Given the description of an element on the screen output the (x, y) to click on. 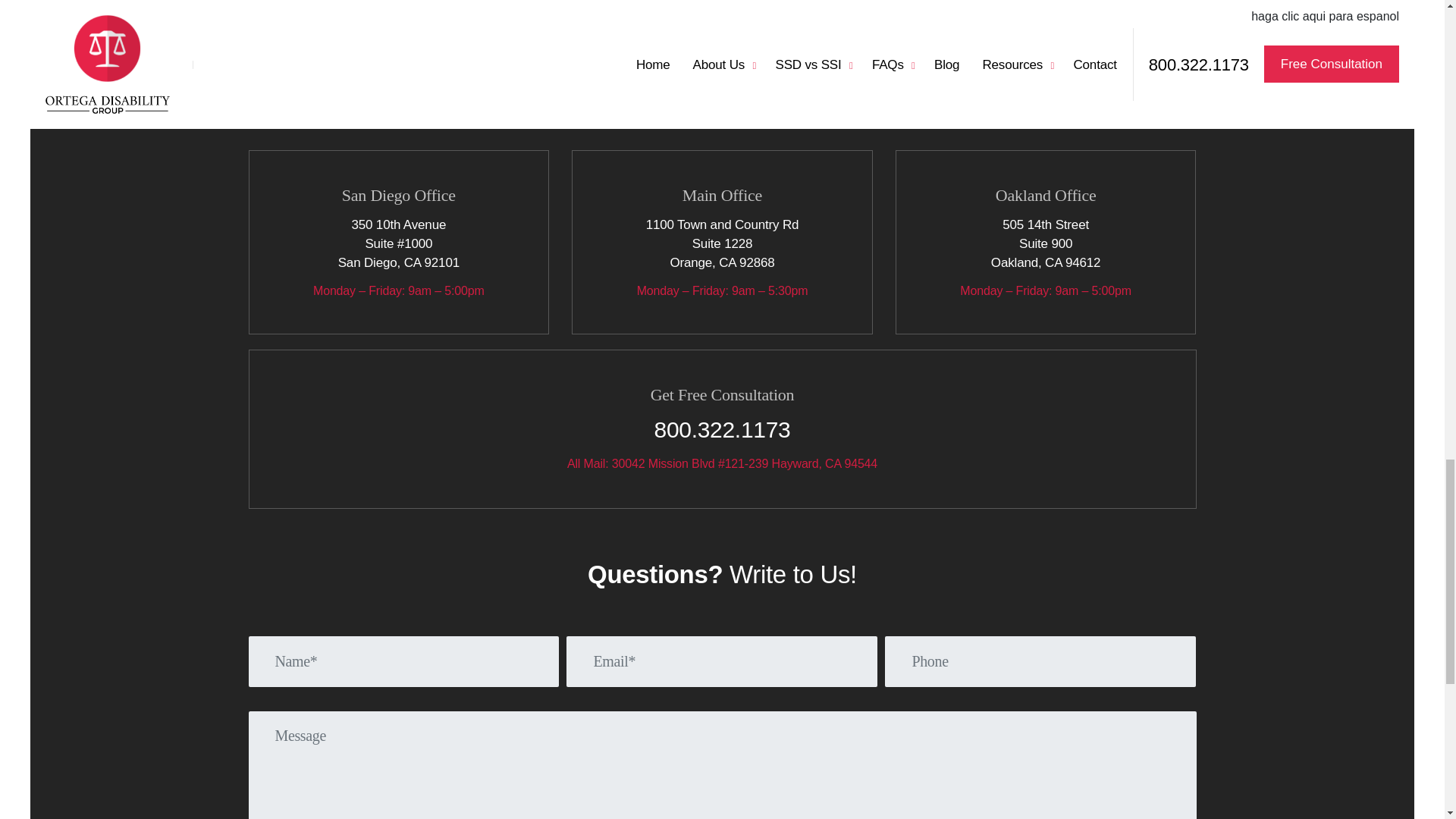
800.322.1173 (721, 429)
